Given the description of an element on the screen output the (x, y) to click on. 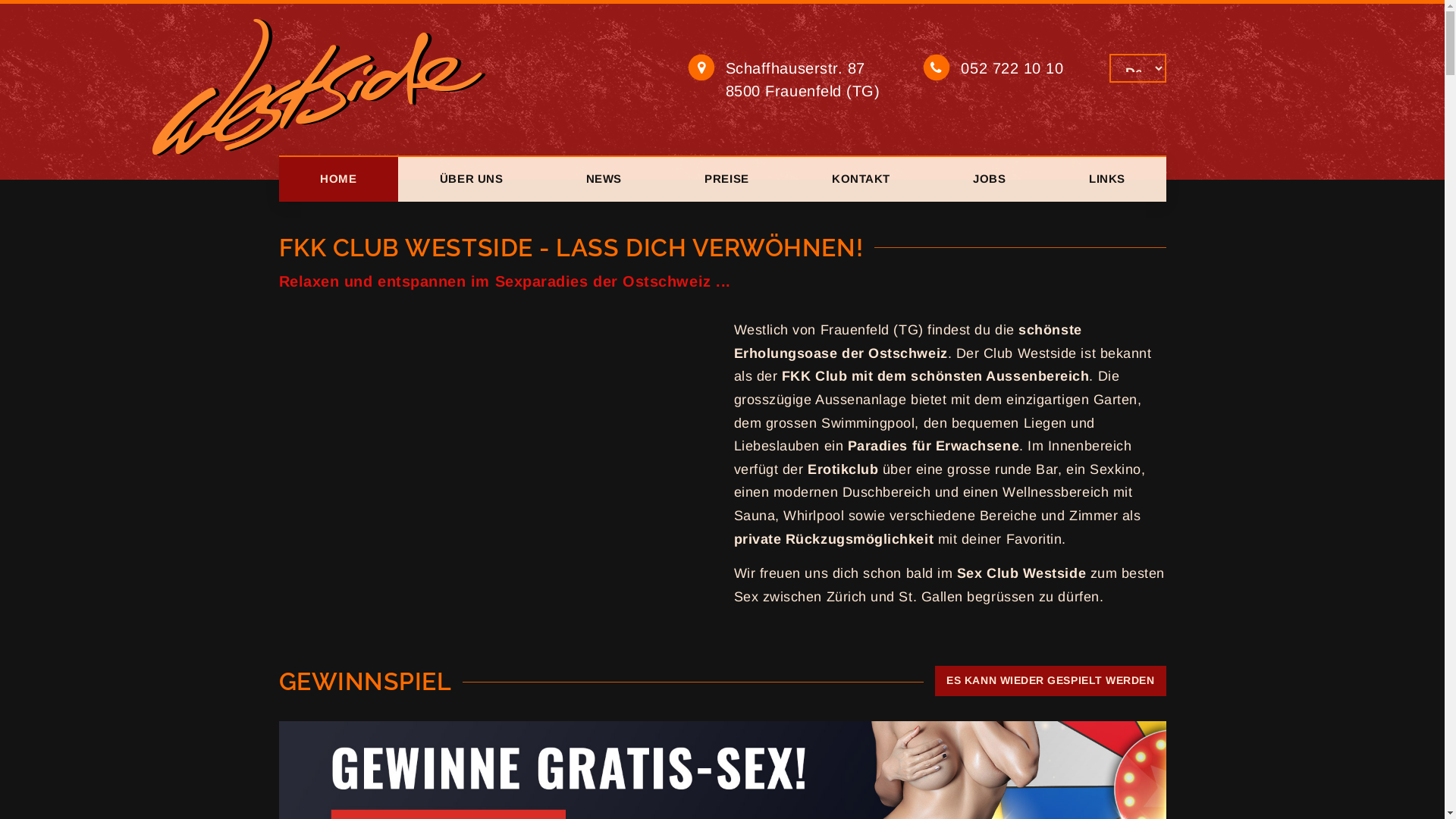
NEWS Element type: text (603, 178)
KONTAKT Element type: text (860, 178)
JOBS Element type: text (989, 178)
LINKS Element type: text (1106, 178)
HOME Element type: text (338, 178)
ES KANN WIEDER GESPIELT WERDEN Element type: text (1050, 680)
PREISE Element type: text (726, 178)
